Given the description of an element on the screen output the (x, y) to click on. 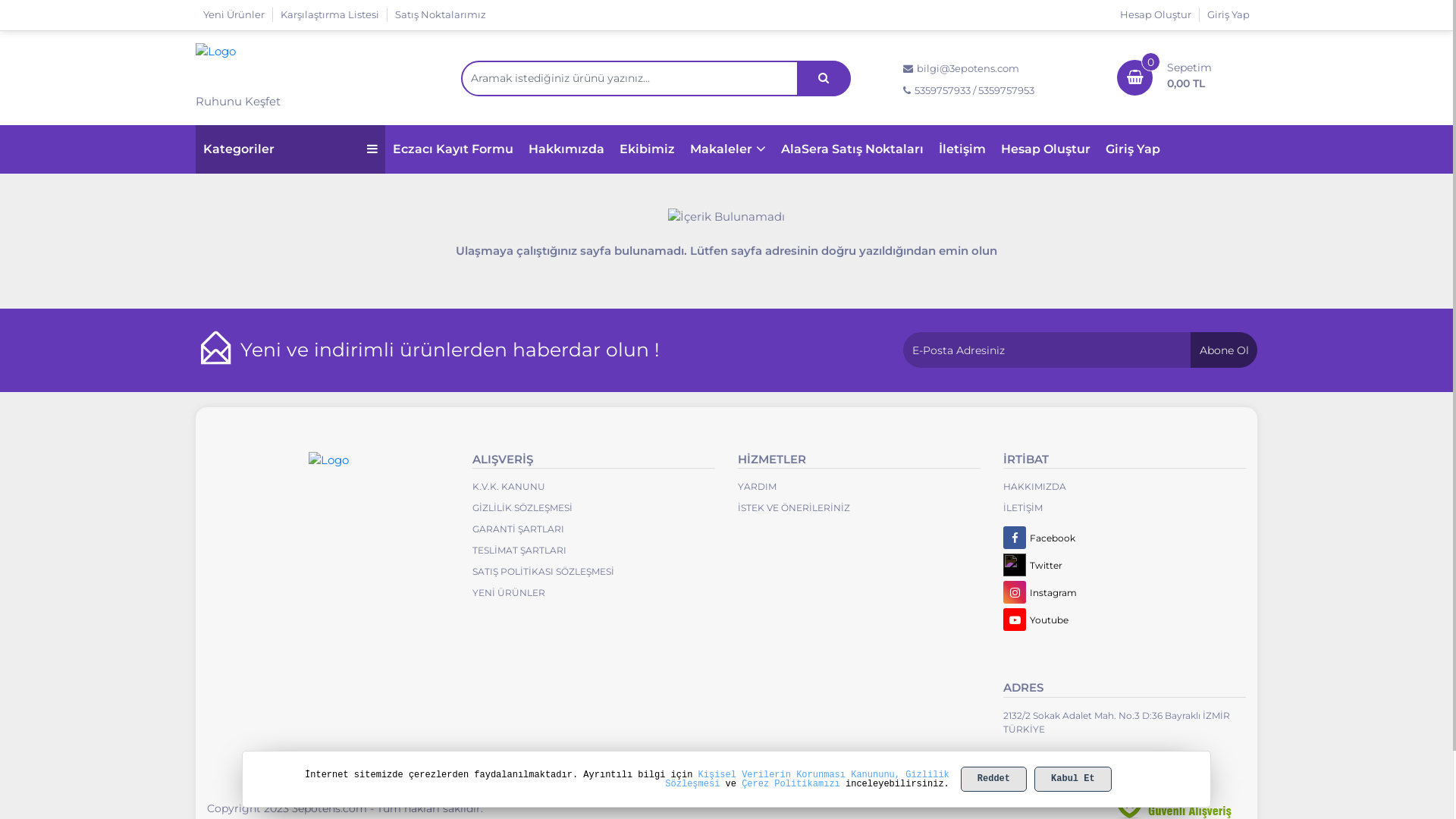
Youtube Element type: text (1124, 619)
3E POTENS Element type: hover (271, 64)
5359757933 / 5359757953 Element type: text (991, 90)
Twitter Element type: text (1124, 564)
K.V.K. KANUNU Element type: text (593, 486)
Sepetim
0,00 TL Element type: text (1195, 75)
Kabul Et Element type: text (1072, 778)
Instagram Element type: text (1124, 591)
0 Element type: text (1136, 73)
Makaleler Element type: text (727, 149)
HAKKIMIZDA Element type: text (1054, 486)
Reddet Element type: text (993, 778)
Abone Ol Element type: text (1223, 349)
YARDIM Element type: text (812, 486)
3E POTENS Element type: hover (327, 460)
Arama Yap Element type: hover (823, 78)
bilgi@3epotens.com Element type: text (991, 68)
Ekibimiz Element type: text (646, 149)
0 Element type: text (1142, 69)
Kategoriler Element type: text (290, 149)
Facebook Element type: text (1124, 537)
E-Posta Adresiniz Element type: text (1080, 349)
